Given the description of an element on the screen output the (x, y) to click on. 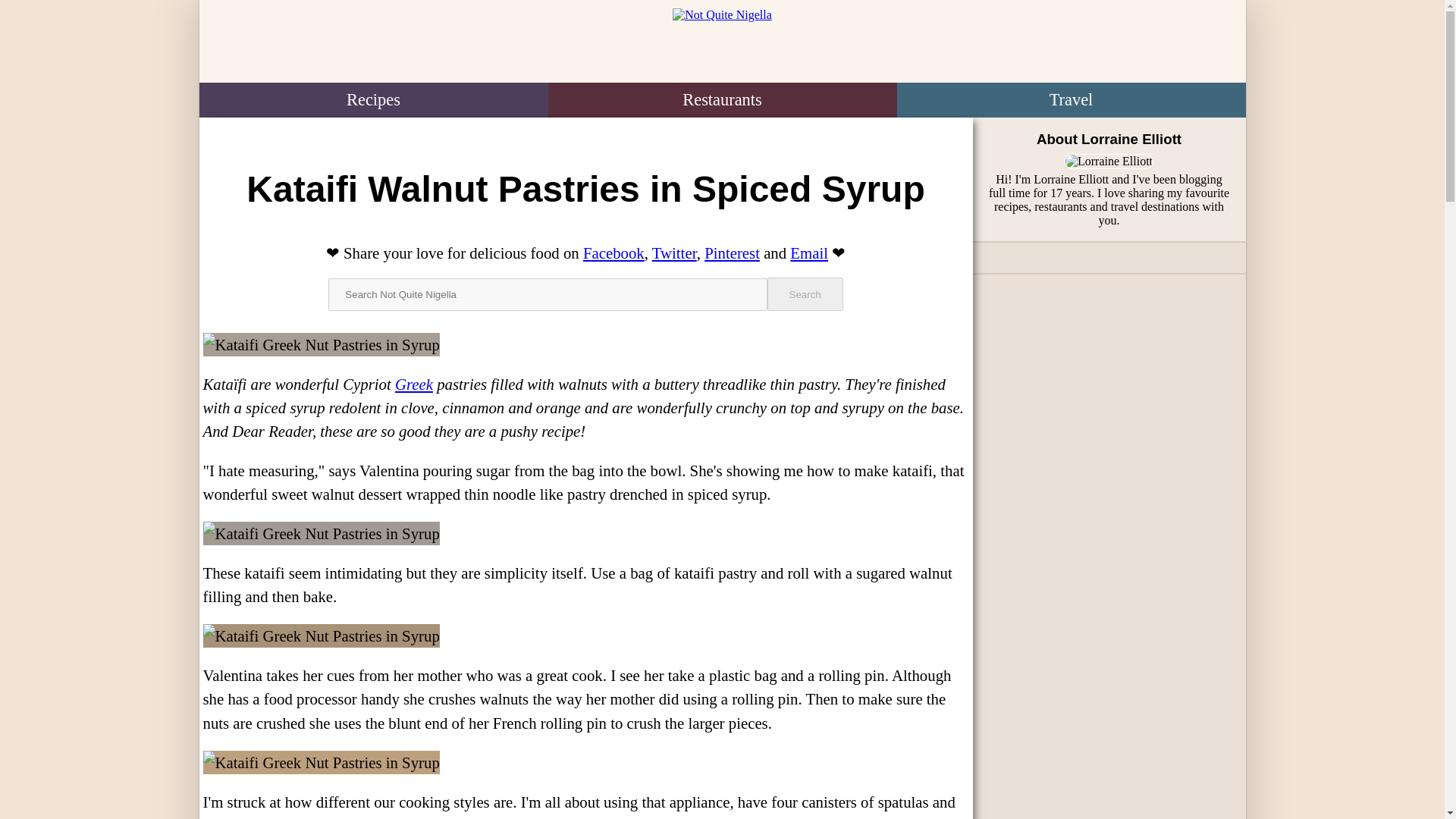
Pinterest (732, 252)
Search (805, 294)
Not Quite Nigella (721, 44)
Email (809, 252)
Search (805, 294)
Twitter (674, 252)
Email (809, 252)
Tweet (674, 252)
Greek (413, 384)
Restaurants (721, 99)
